Given the description of an element on the screen output the (x, y) to click on. 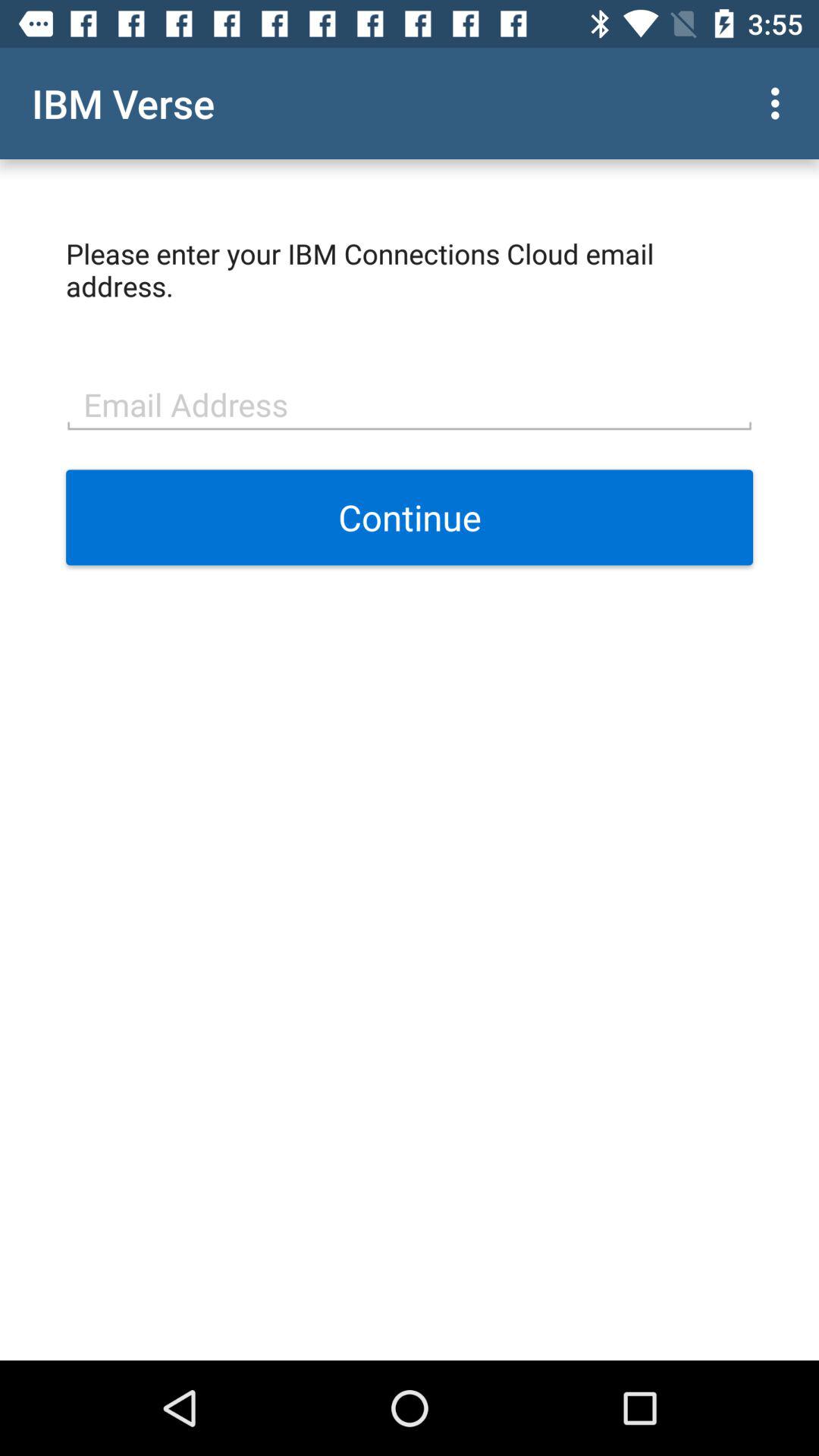
tap item at the center (409, 517)
